Given the description of an element on the screen output the (x, y) to click on. 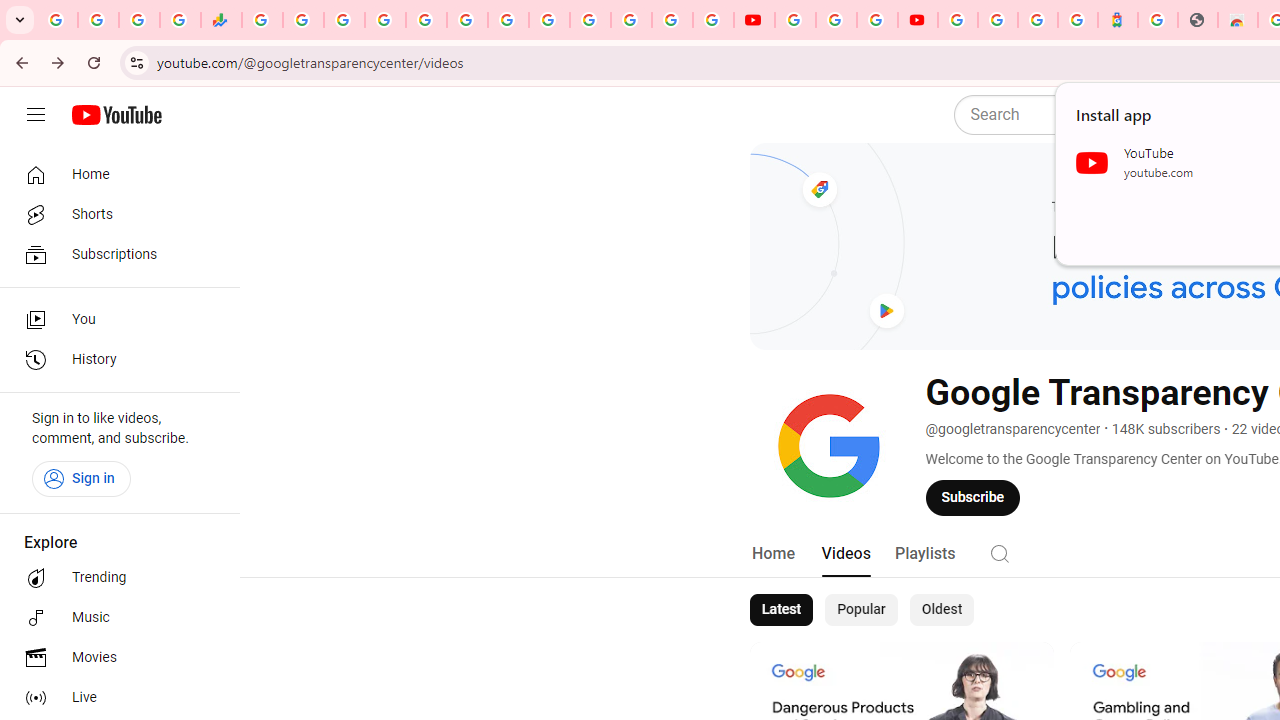
Content Creator Programs & Opportunities - YouTube Creators (918, 20)
Latest (780, 609)
Privacy Checkup (712, 20)
Atour Hotel - Google hotels (1117, 20)
Guide (35, 115)
Sign in - Google Accounts (957, 20)
Popular (861, 609)
